Given the description of an element on the screen output the (x, y) to click on. 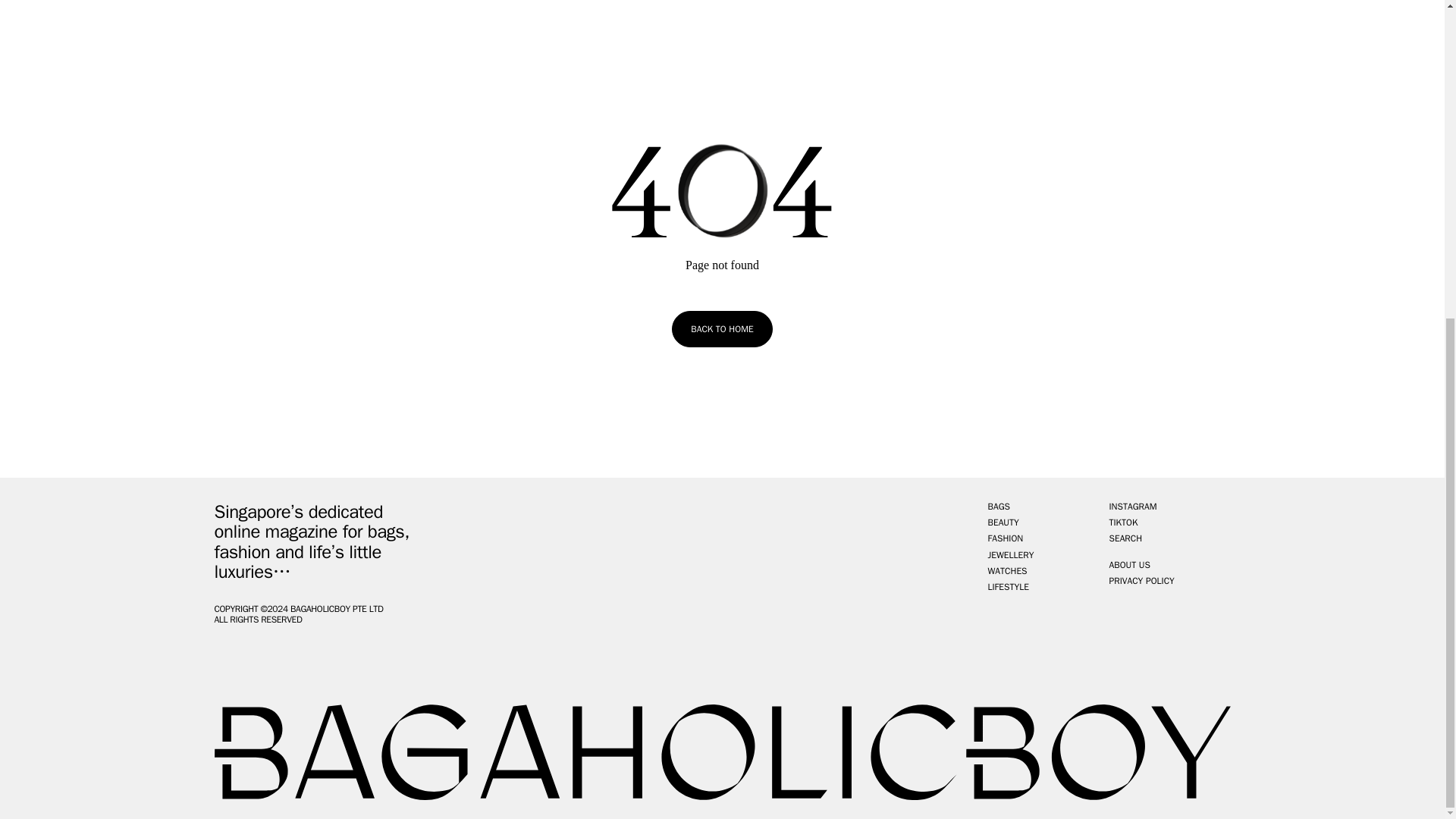
WATCHES (1006, 571)
JEWELLERY (1010, 555)
ABOUT US (1129, 560)
BACK TO HOME (721, 329)
BAGS (998, 506)
TIKTOK (1122, 522)
BEAUTY (1002, 522)
SEARCH (1124, 538)
FASHION (1005, 538)
PRIVACY POLICY (1140, 581)
